Given the description of an element on the screen output the (x, y) to click on. 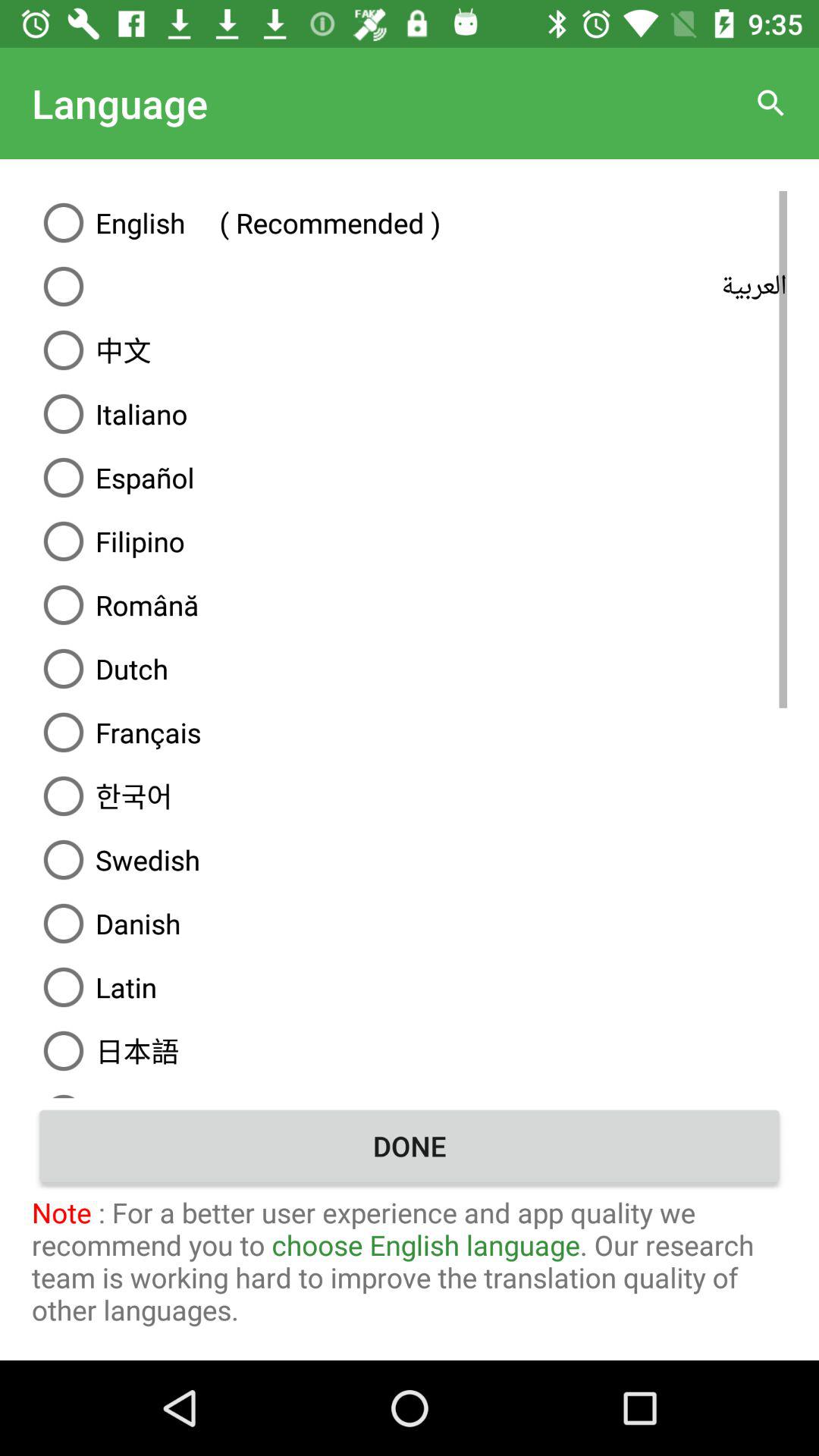
open the danish item (409, 923)
